Given the description of an element on the screen output the (x, y) to click on. 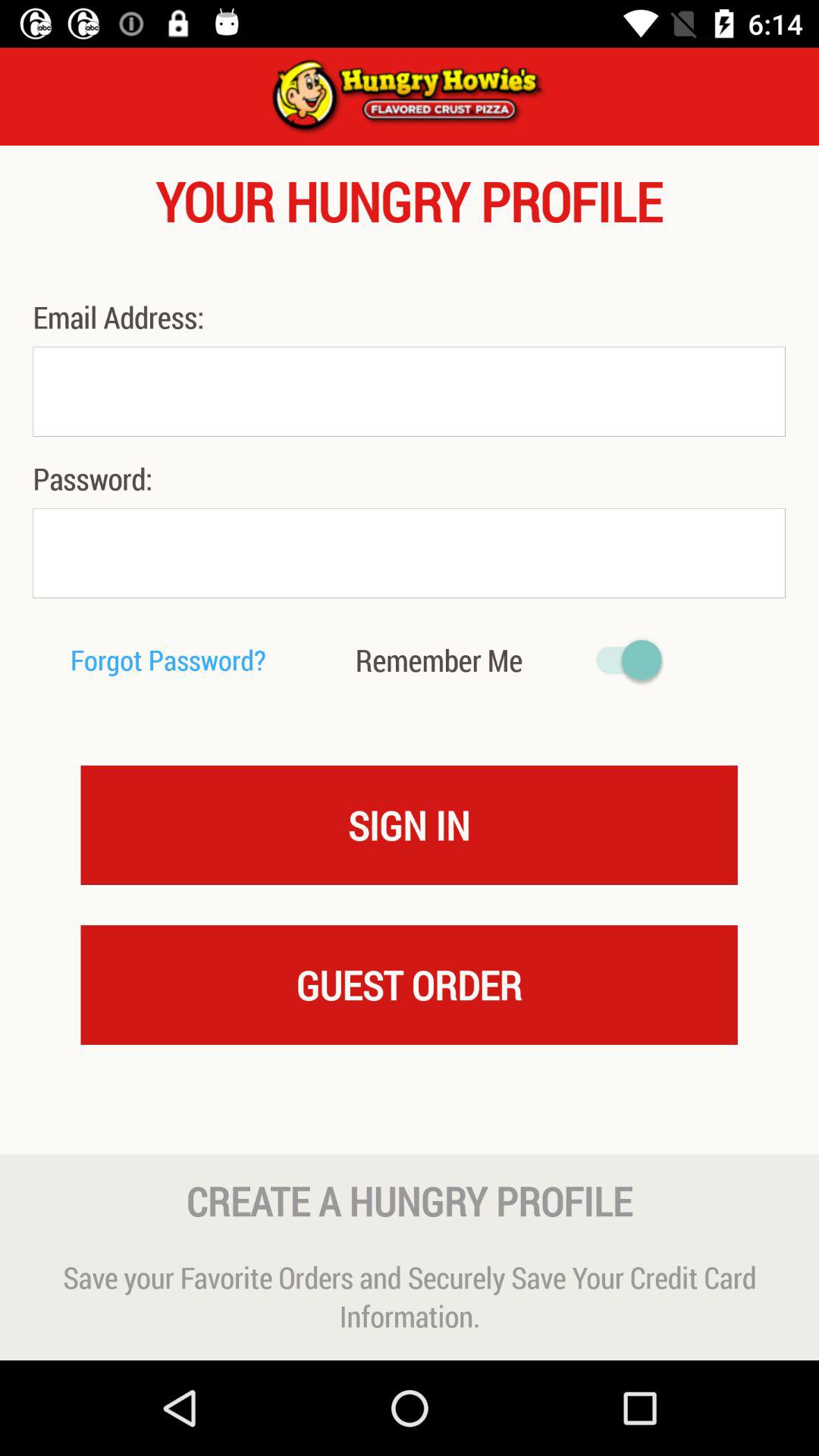
turn off sign in item (409, 824)
